Given the description of an element on the screen output the (x, y) to click on. 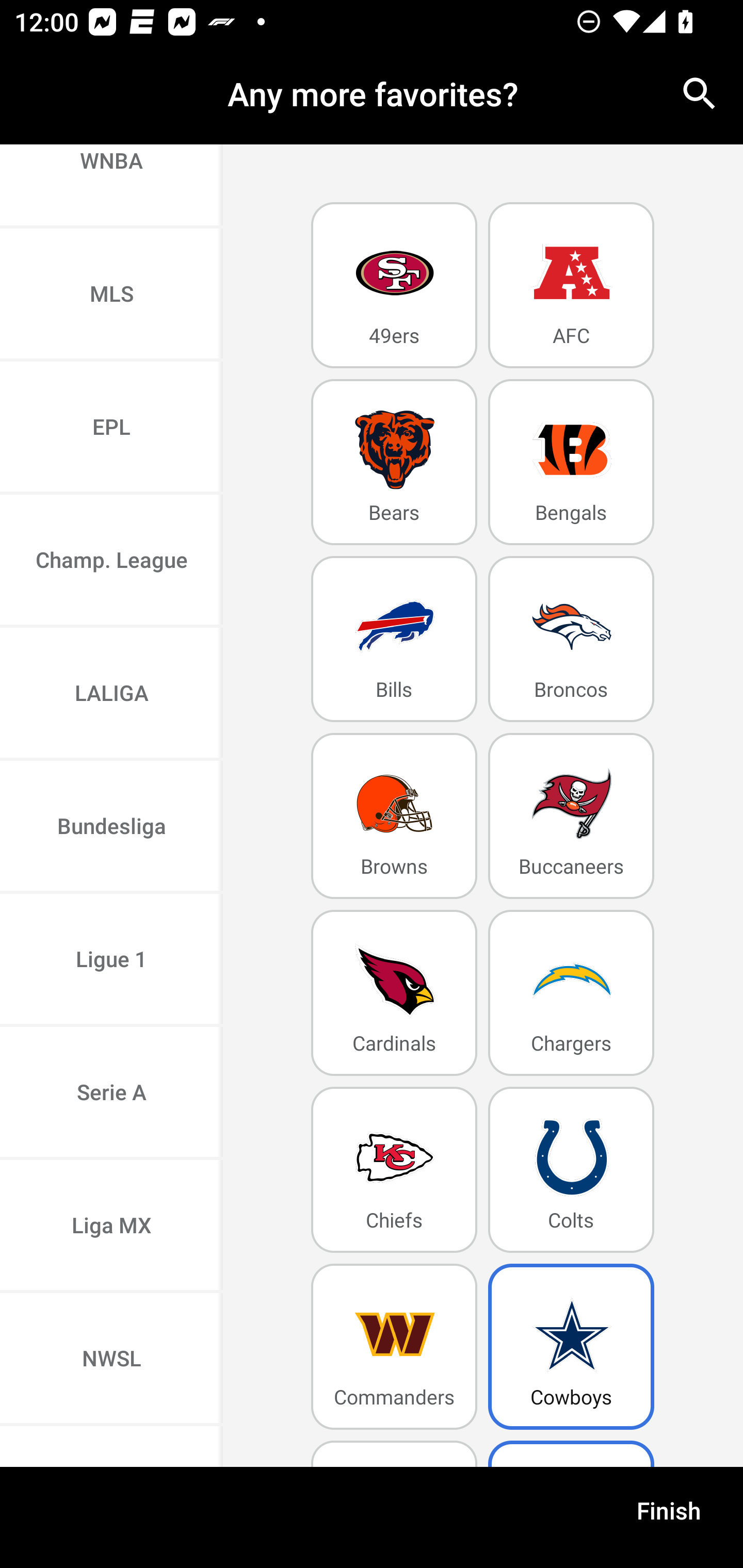
search (699, 93)
WNBA (111, 186)
49ers (394, 285)
AFC (571, 285)
MLS (111, 295)
EPL (111, 428)
Bears (394, 462)
Bengals (571, 462)
Champ. League (111, 560)
Bills (394, 639)
Broncos (571, 639)
LALIGA (111, 694)
Browns (394, 815)
Buccaneers (571, 815)
Bundesliga (111, 826)
Ligue 1 (111, 960)
Cardinals (394, 992)
Chargers (571, 992)
Serie A (111, 1093)
Chiefs (394, 1169)
Colts (571, 1169)
Liga MX (111, 1226)
Commanders (394, 1346)
Cowboys CowboysSelected (571, 1346)
NWSL (111, 1359)
Finish Finish and Close (669, 1517)
